Given the description of an element on the screen output the (x, y) to click on. 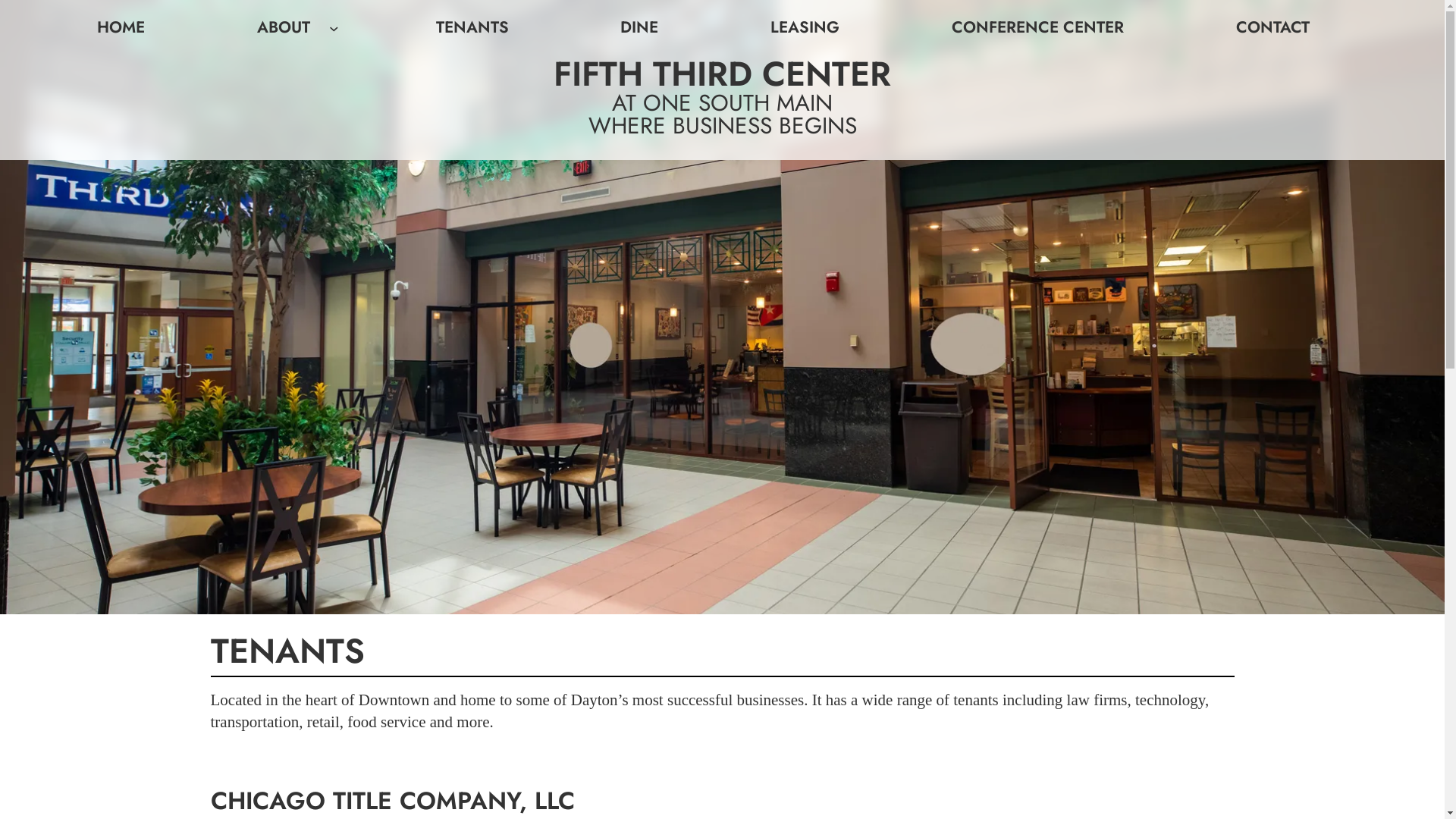
FIFTH THIRD CENTER Element type: text (722, 73)
TENANTS Element type: text (472, 27)
CONTACT Element type: text (1272, 27)
DINE Element type: text (639, 27)
HOME Element type: text (120, 27)
WHERE BUSINESS BEGINS Element type: text (722, 125)
CHICAGO TITLE COMPANY, LLC Element type: text (392, 800)
ABOUT Element type: text (283, 27)
AT ONE SOUTH MAIN Element type: text (721, 102)
CONFERENCE CENTER Element type: text (1037, 27)
LEASING Element type: text (804, 27)
